Given the description of an element on the screen output the (x, y) to click on. 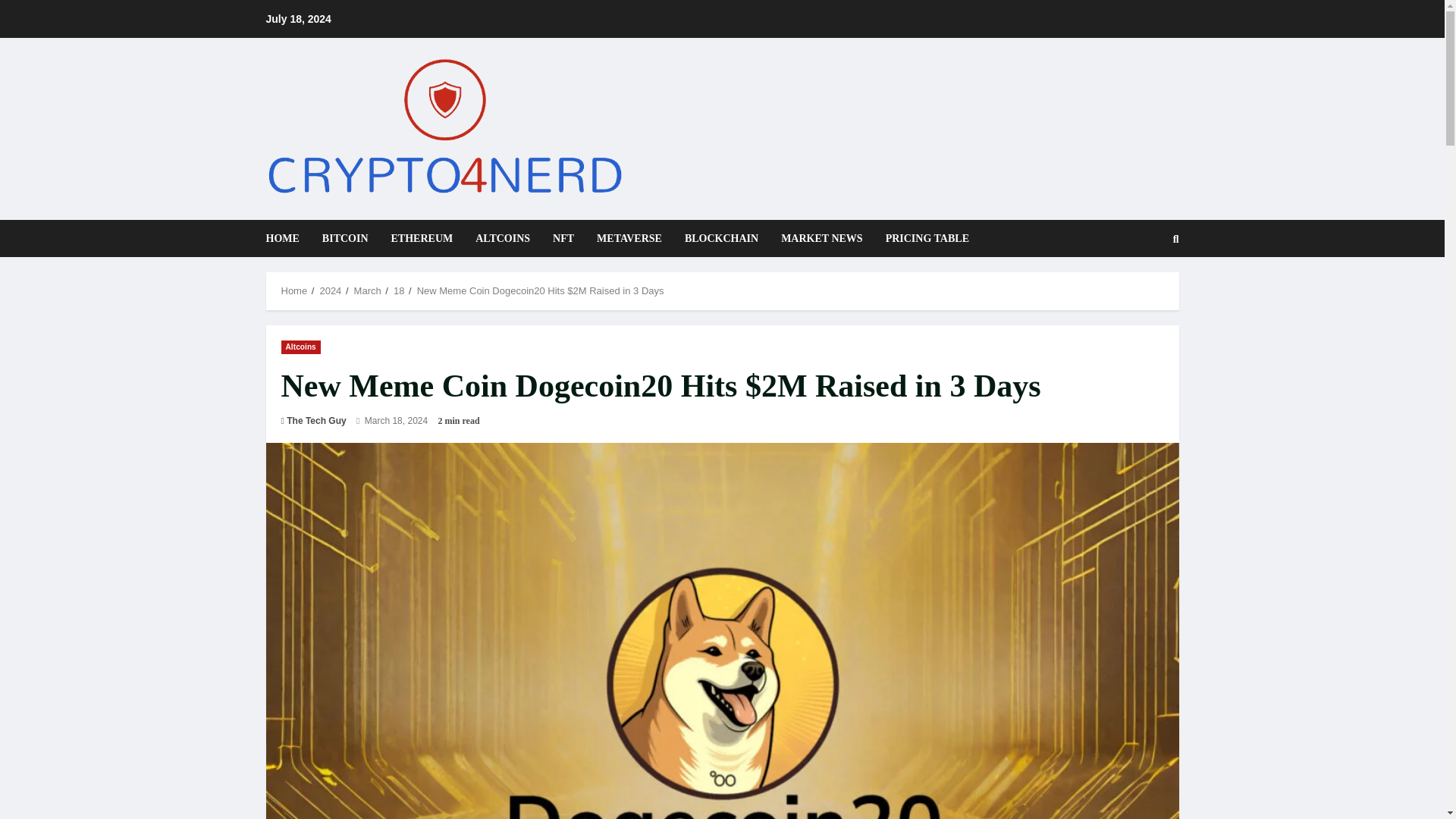
MARKET NEWS (821, 238)
PRICING TABLE (922, 238)
ALTCOINS (502, 238)
ETHEREUM (422, 238)
Home (294, 290)
BLOCKCHAIN (721, 238)
HOME (287, 238)
18 (398, 290)
Search (1139, 290)
BITCOIN (345, 238)
2024 (329, 290)
Altcoins (300, 346)
The Tech Guy (316, 420)
METAVERSE (628, 238)
March (367, 290)
